Given the description of an element on the screen output the (x, y) to click on. 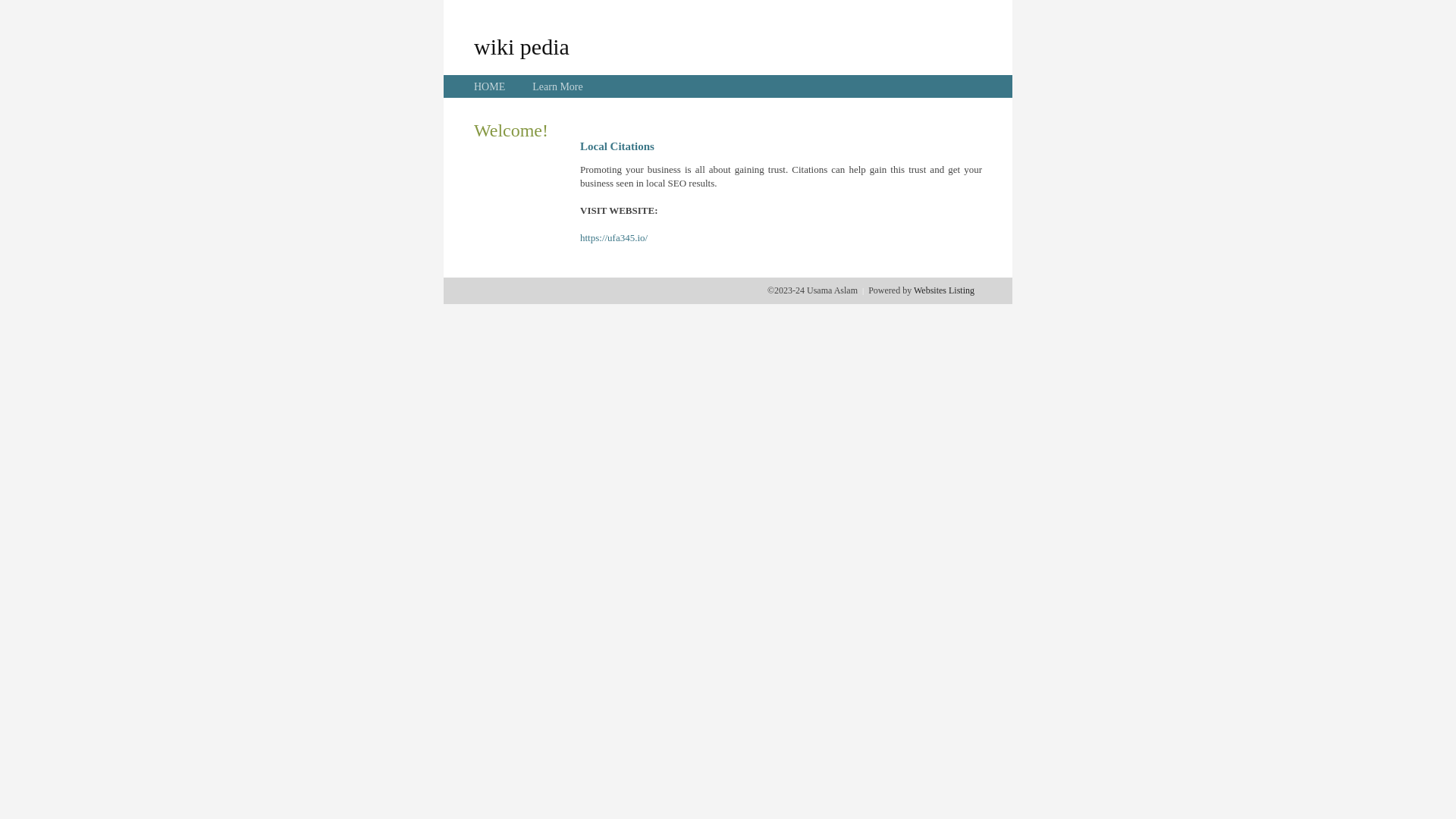
HOME Element type: text (489, 86)
Websites Listing Element type: text (943, 290)
https://ufa345.io/ Element type: text (613, 237)
Learn More Element type: text (557, 86)
wiki pedia Element type: text (521, 46)
